Given the description of an element on the screen output the (x, y) to click on. 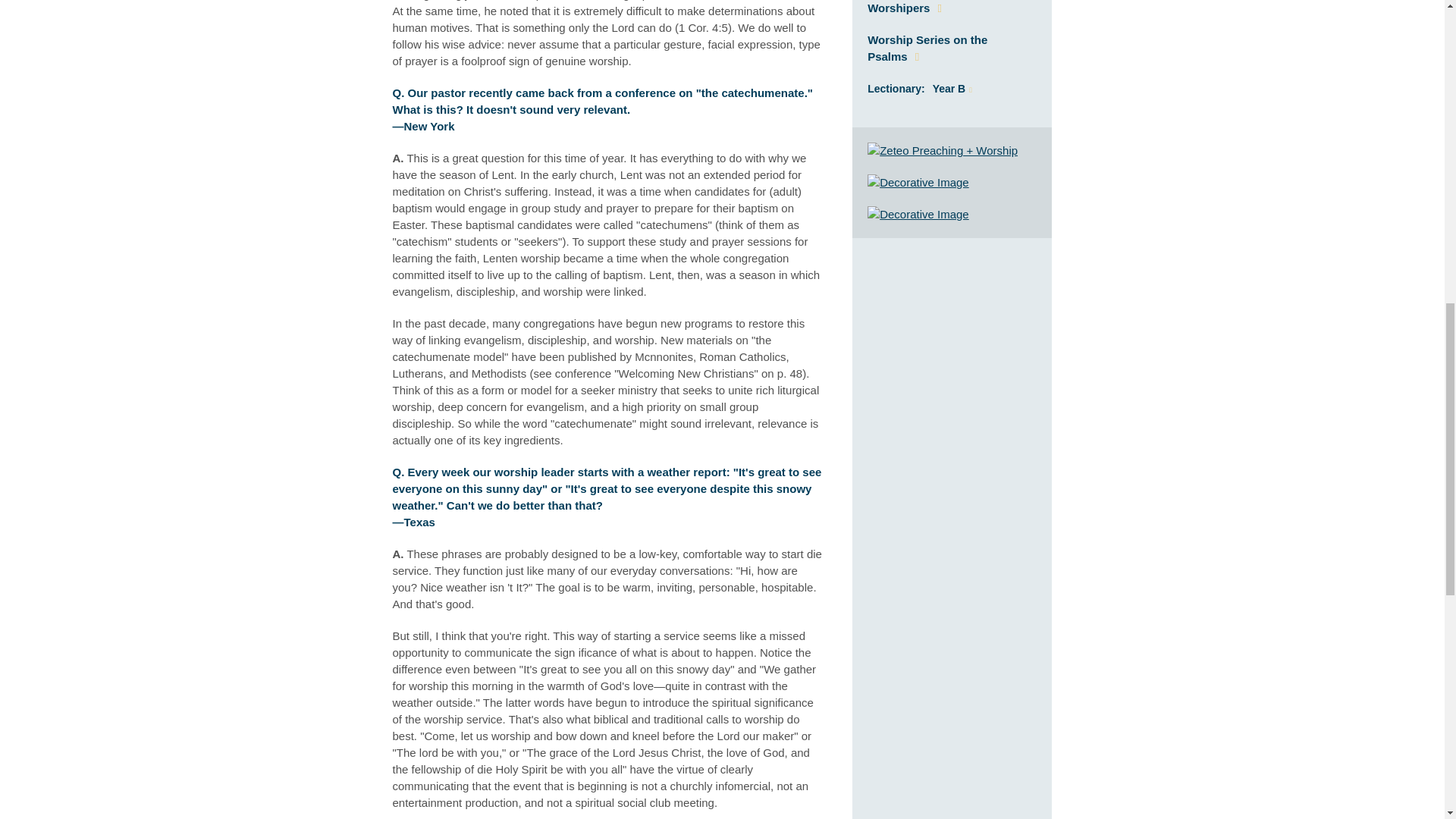
Year B (952, 88)
Sabbath-Keeping for Lead Worshipers (938, 7)
Worship Series on the Psalms (927, 48)
